Given the description of an element on the screen output the (x, y) to click on. 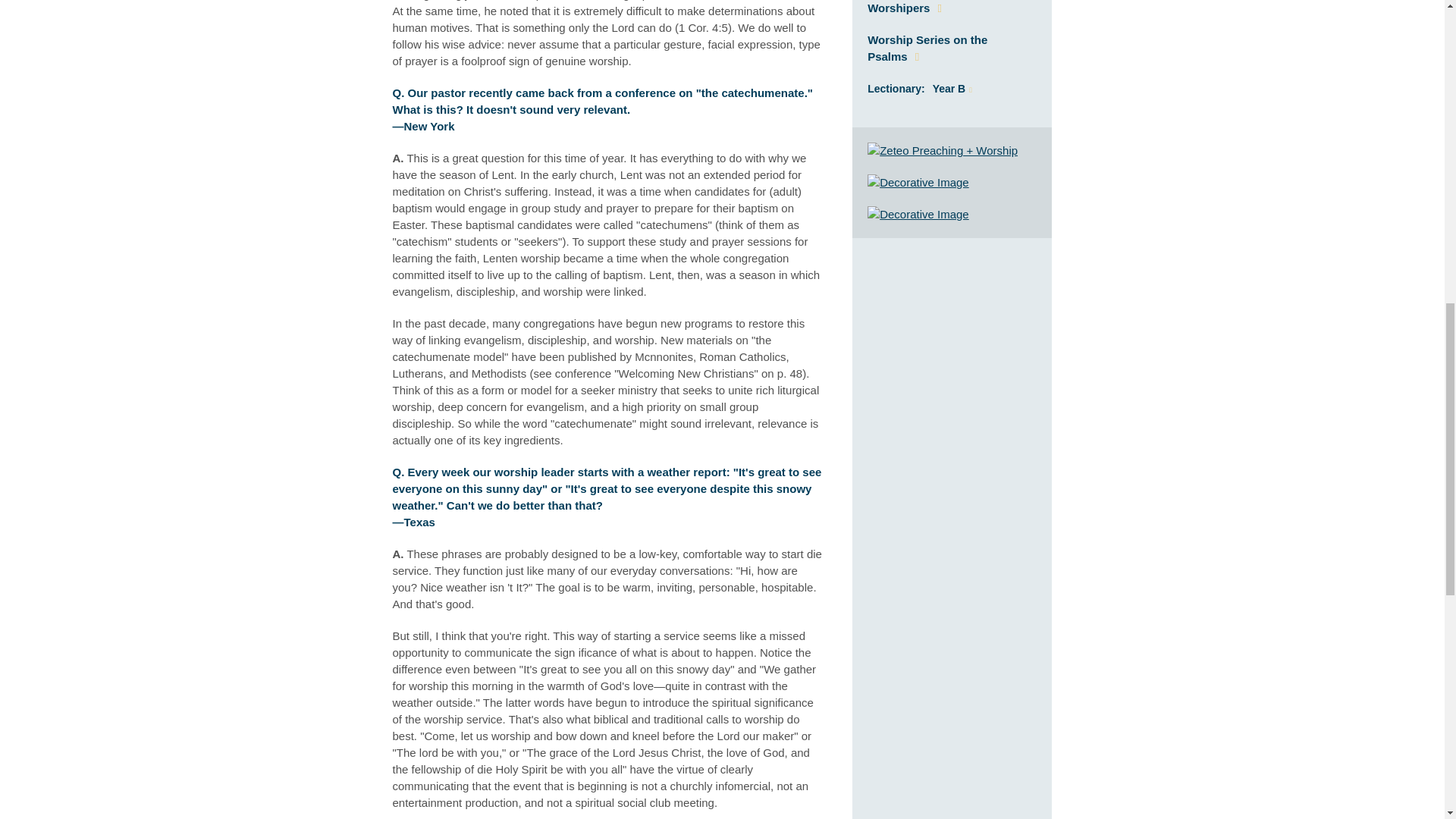
Year B (952, 88)
Sabbath-Keeping for Lead Worshipers (938, 7)
Worship Series on the Psalms (927, 48)
